Given the description of an element on the screen output the (x, y) to click on. 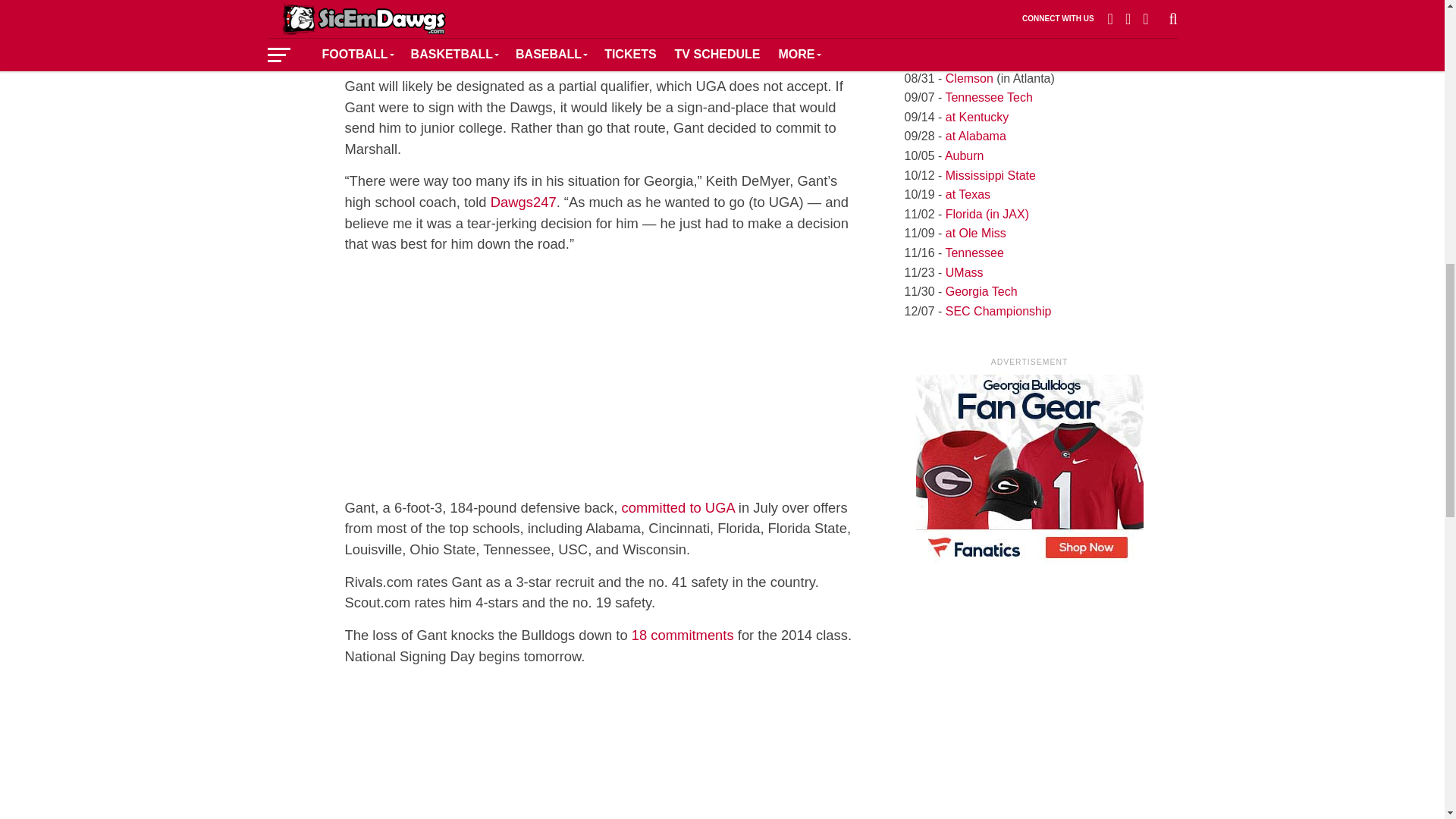
Advertisement (604, 3)
Advertisement (604, 750)
Advertisement (604, 376)
